Given the description of an element on the screen output the (x, y) to click on. 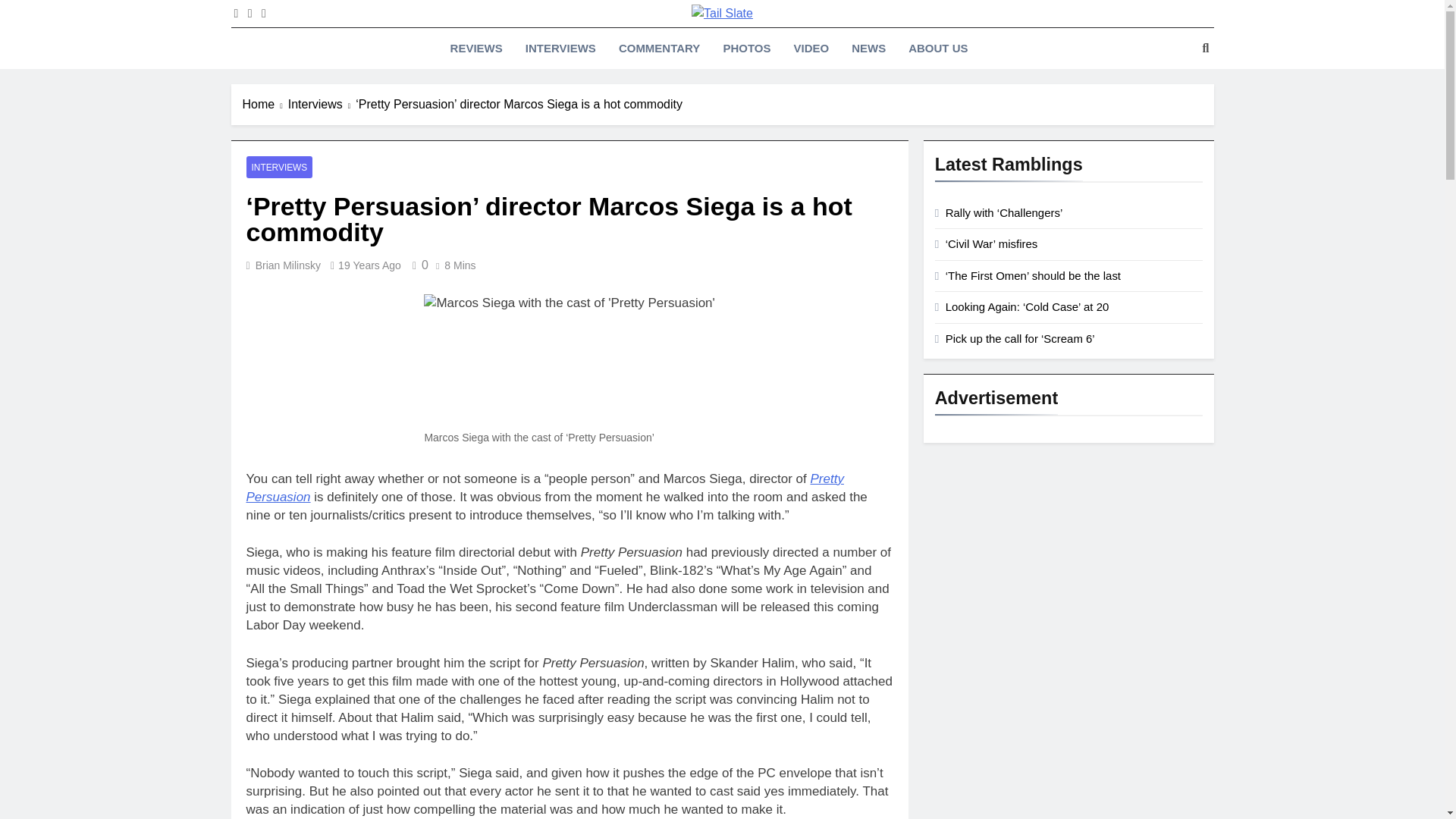
INTERVIEWS (279, 167)
COMMENTARY (659, 47)
Pretty Persuasion (544, 487)
19 Years Ago (369, 265)
Home (265, 104)
0 (417, 264)
NEWS (868, 47)
PHOTOS (746, 47)
INTERVIEWS (560, 47)
ABOUT US (937, 47)
